Given the description of an element on the screen output the (x, y) to click on. 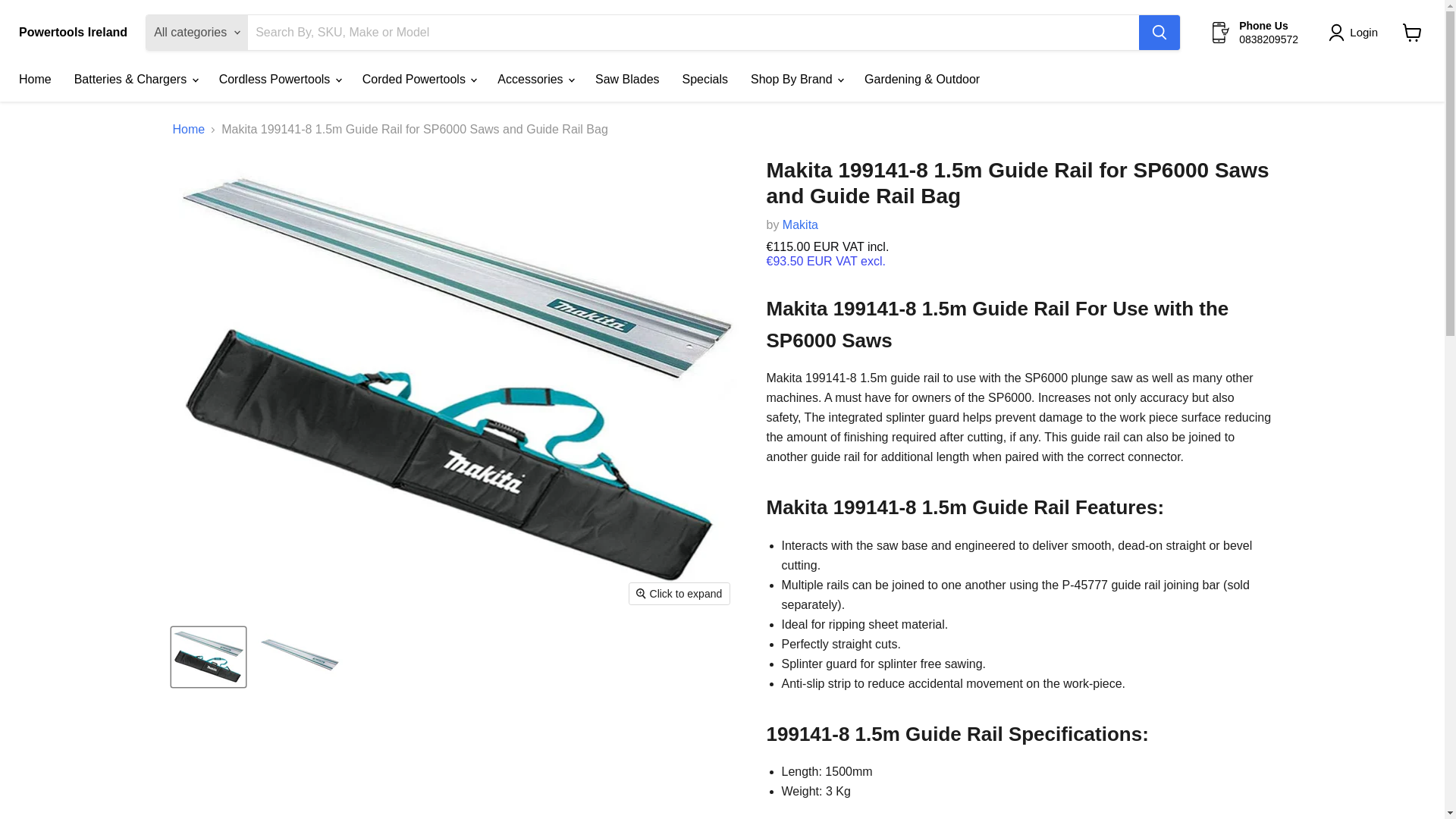
Home (34, 79)
Powertools Ireland (73, 32)
View cart (1411, 32)
Makita (800, 224)
Login (1363, 32)
